Given the description of an element on the screen output the (x, y) to click on. 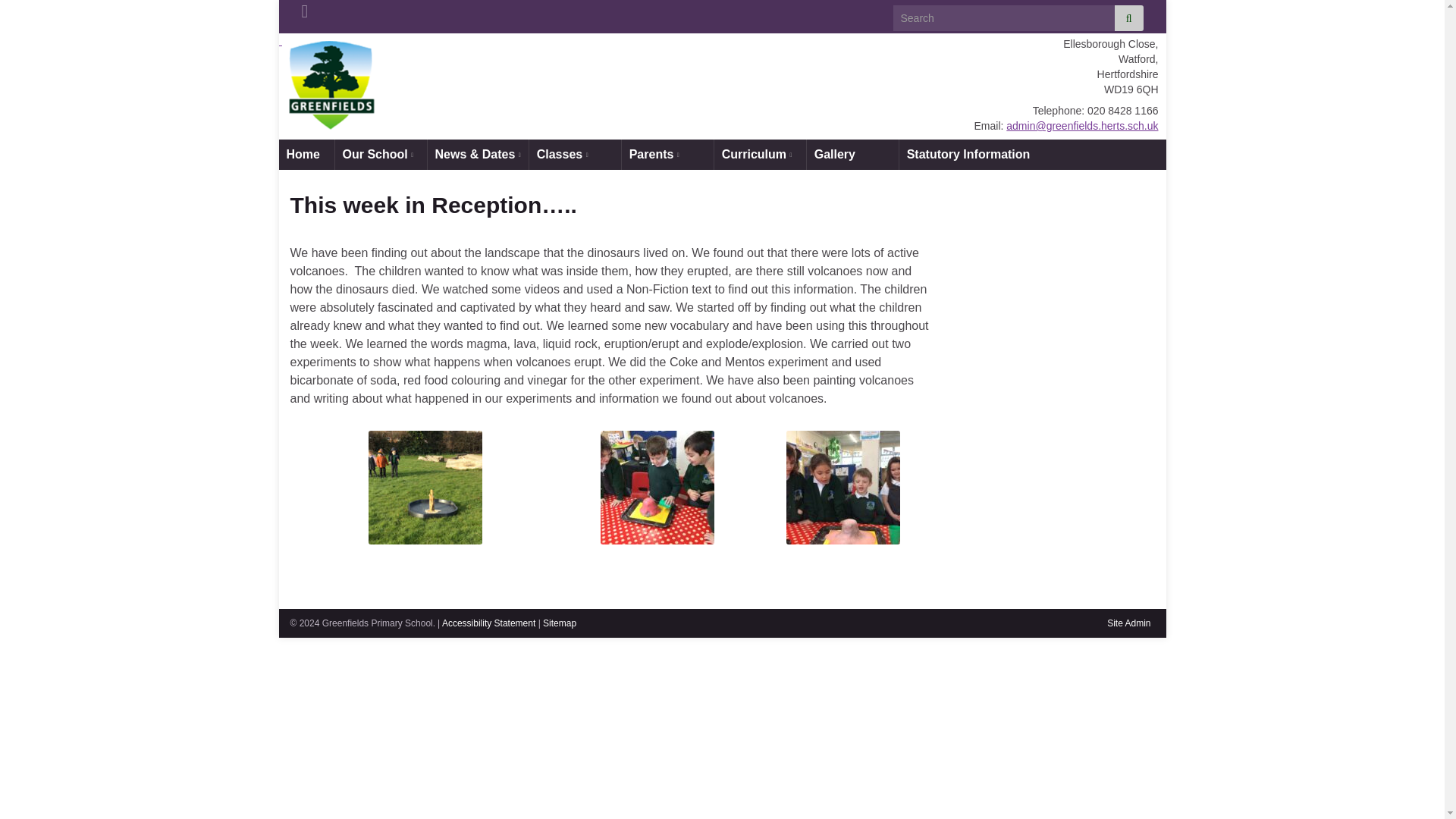
Go back to the front page (537, 76)
Home (306, 154)
Parents (667, 154)
Greenfields Primary School (537, 76)
Greenfields Primary School (328, 86)
Go back to the front page (722, 86)
Our School (380, 154)
Classes (575, 154)
